Given the description of an element on the screen output the (x, y) to click on. 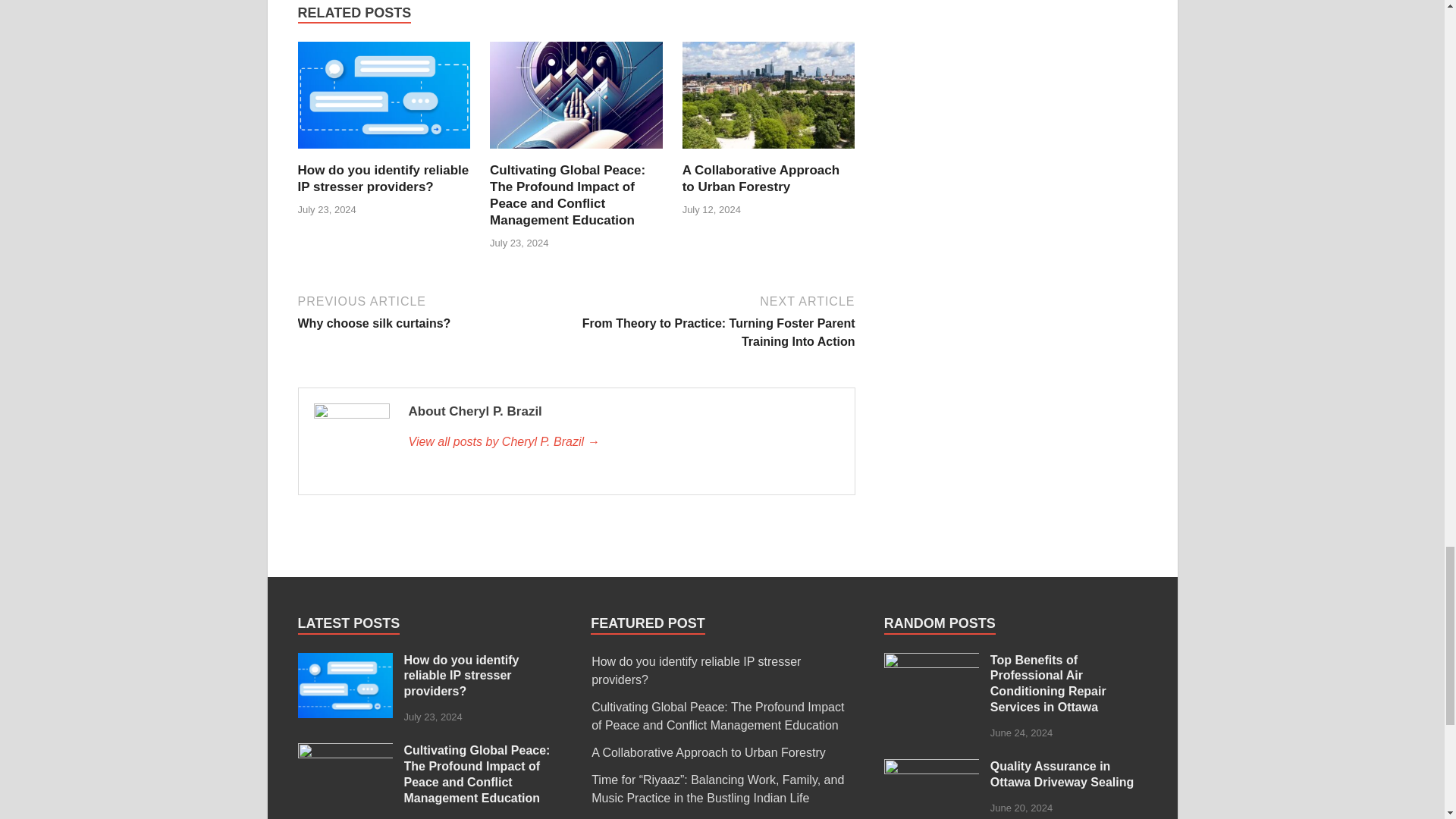
How do you identify reliable IP stresser providers? (344, 661)
Cheryl P. Brazil (622, 442)
How do you identify reliable IP stresser providers? (382, 178)
A Collaborative Approach to Urban Forestry (761, 178)
A Collaborative Approach to Urban Forestry (769, 152)
How do you identify reliable IP stresser providers? (434, 311)
How do you identify reliable IP stresser providers? (382, 178)
A Collaborative Approach to Urban Forestry (383, 152)
